Given the description of an element on the screen output the (x, y) to click on. 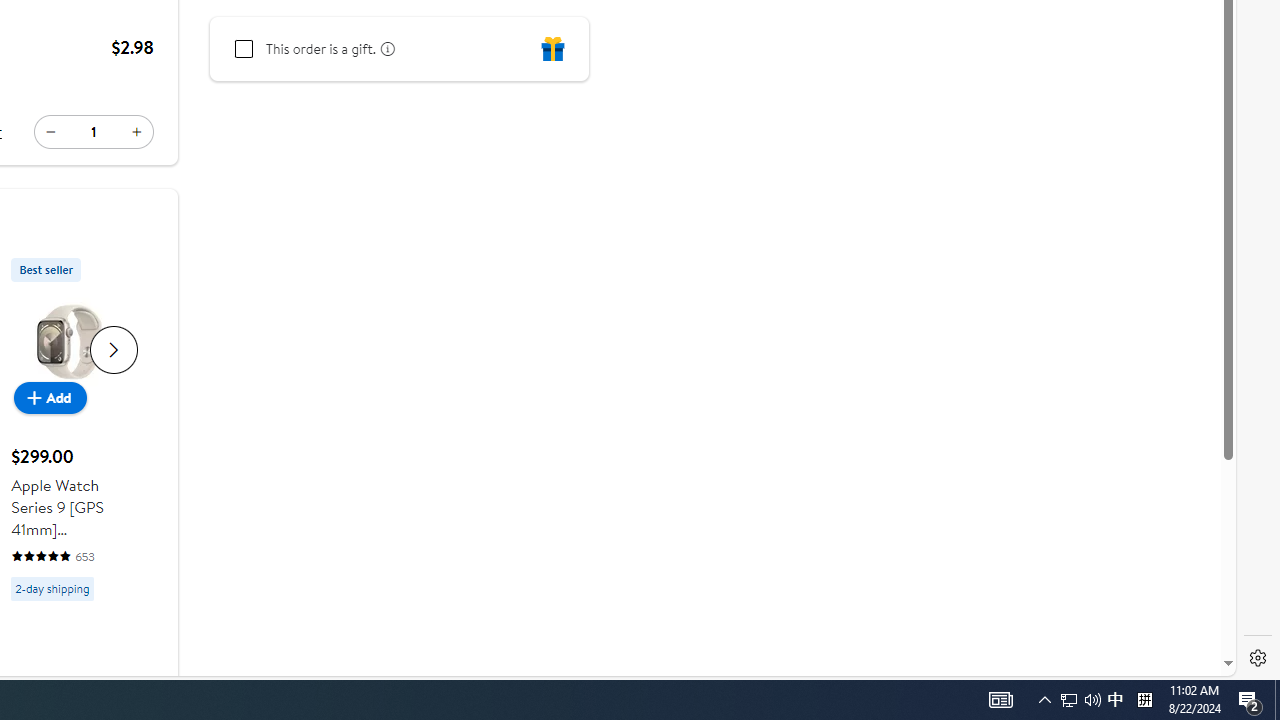
learn more about gifting (385, 48)
This order is a gift. (243, 49)
Next slide for horizontalScrollerRecommendations list (113, 348)
